Given the description of an element on the screen output the (x, y) to click on. 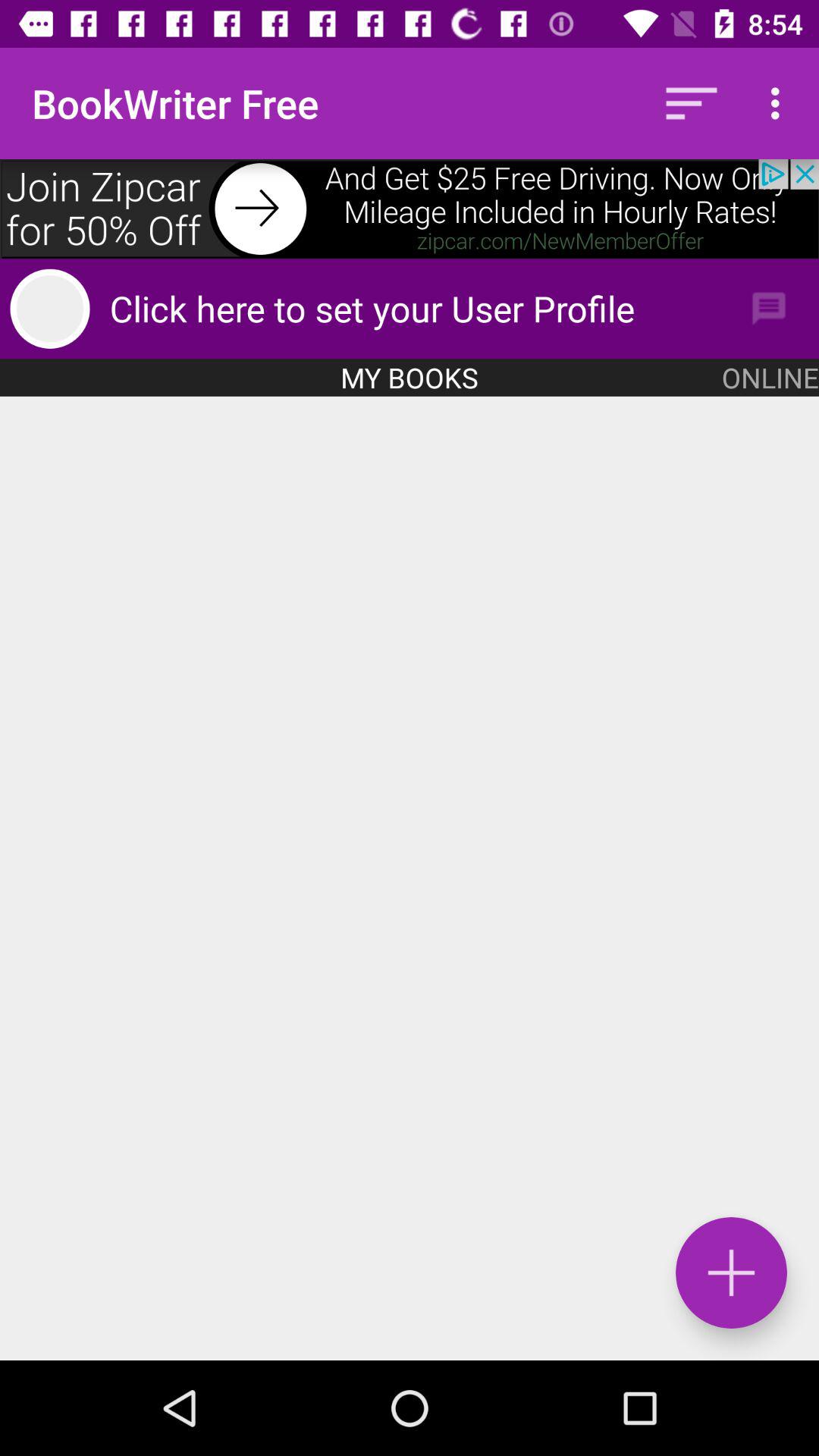
advertisement (409, 208)
